Given the description of an element on the screen output the (x, y) to click on. 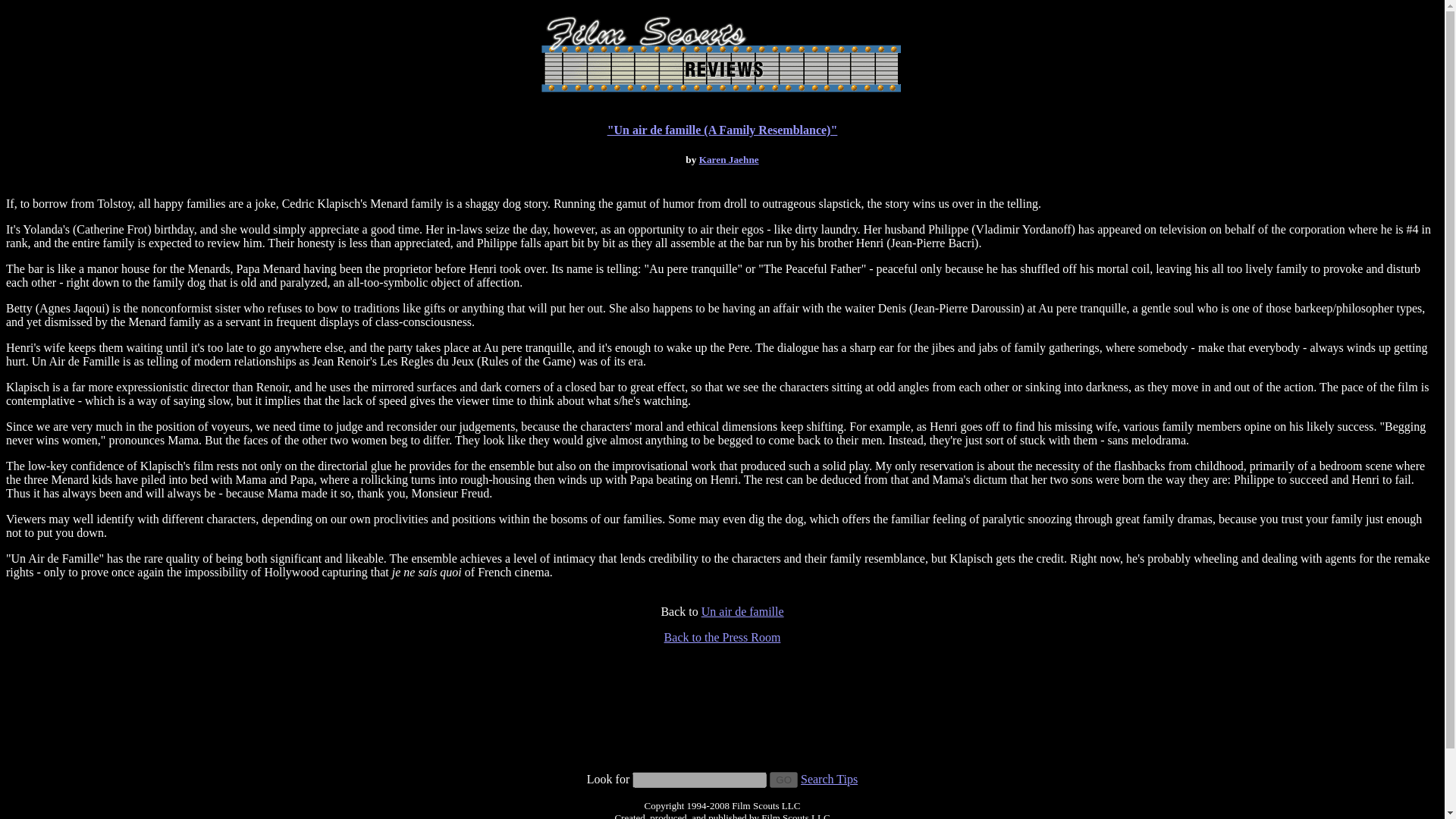
Search Tips (828, 779)
GO (783, 779)
Un air de famille (742, 611)
Back to the Press Room (721, 636)
Advertisement (721, 737)
Karen Jaehne (728, 159)
GO (783, 779)
